Given the description of an element on the screen output the (x, y) to click on. 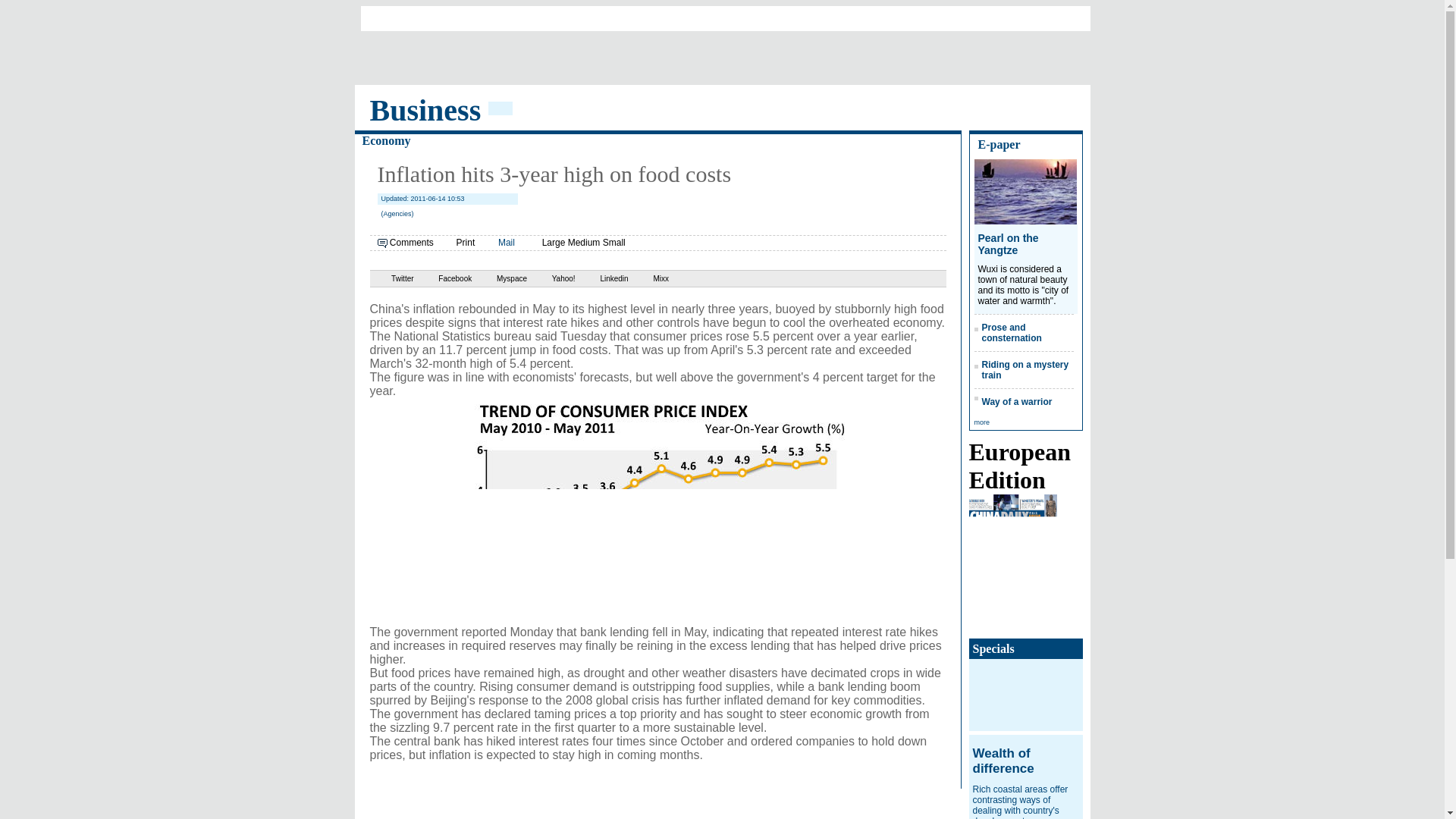
Pearl on the Yangtze (1008, 243)
Large (553, 242)
Share to Myspace (500, 278)
Riding on a mystery train (1024, 369)
Mail (506, 242)
Prose and consternation (1011, 332)
Share to Yahoo! Buzz (552, 278)
Wealth of difference (1002, 760)
Share to Mixx (649, 278)
Yahoo! (552, 278)
